Given the description of an element on the screen output the (x, y) to click on. 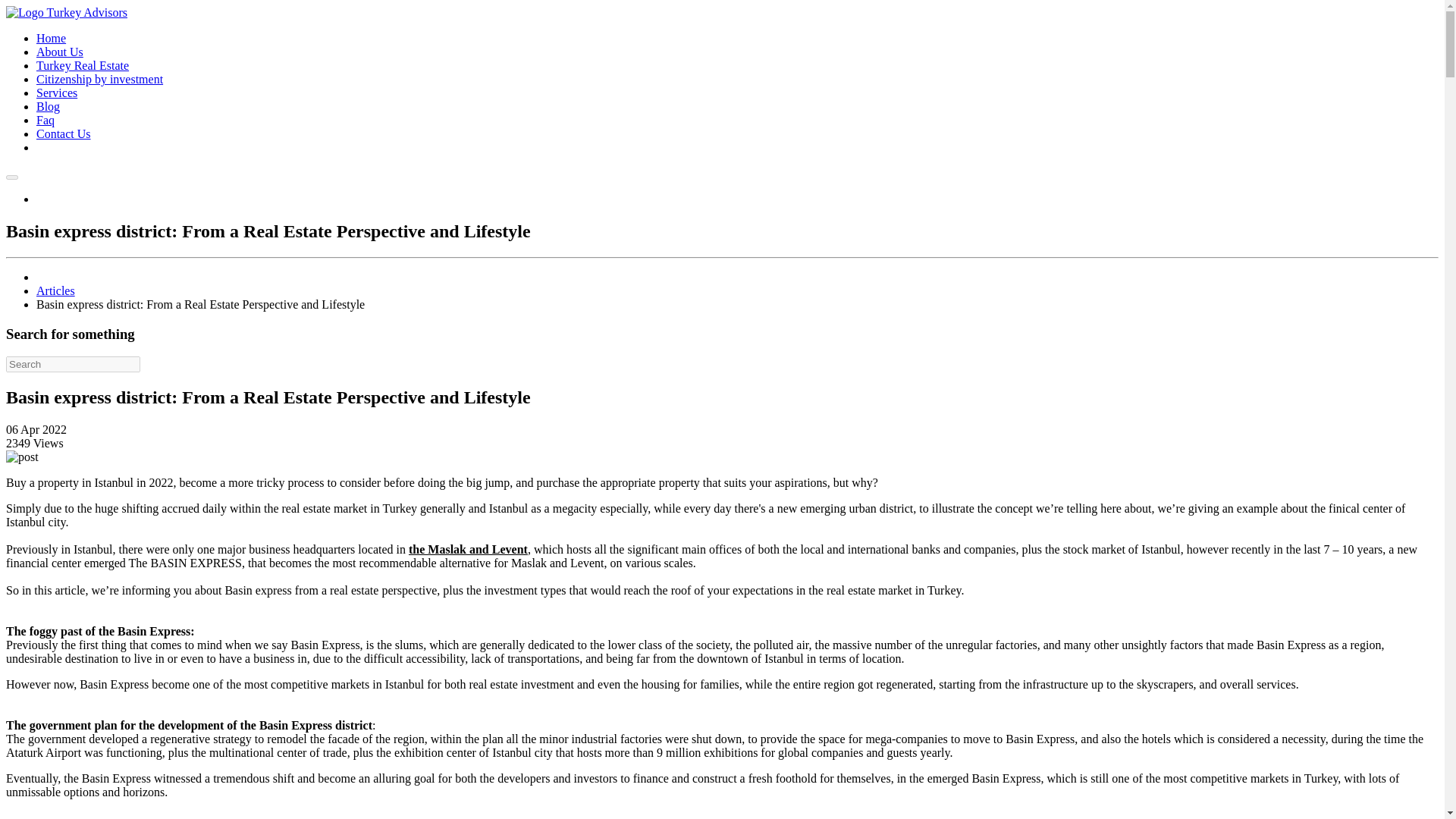
Services (56, 92)
Home (50, 38)
About Us (59, 51)
Faq (45, 119)
Contact Us (63, 133)
Blog (47, 106)
Articles (55, 290)
Citizenship by investment (99, 78)
Turkey Real Estate (82, 65)
